Given the description of an element on the screen output the (x, y) to click on. 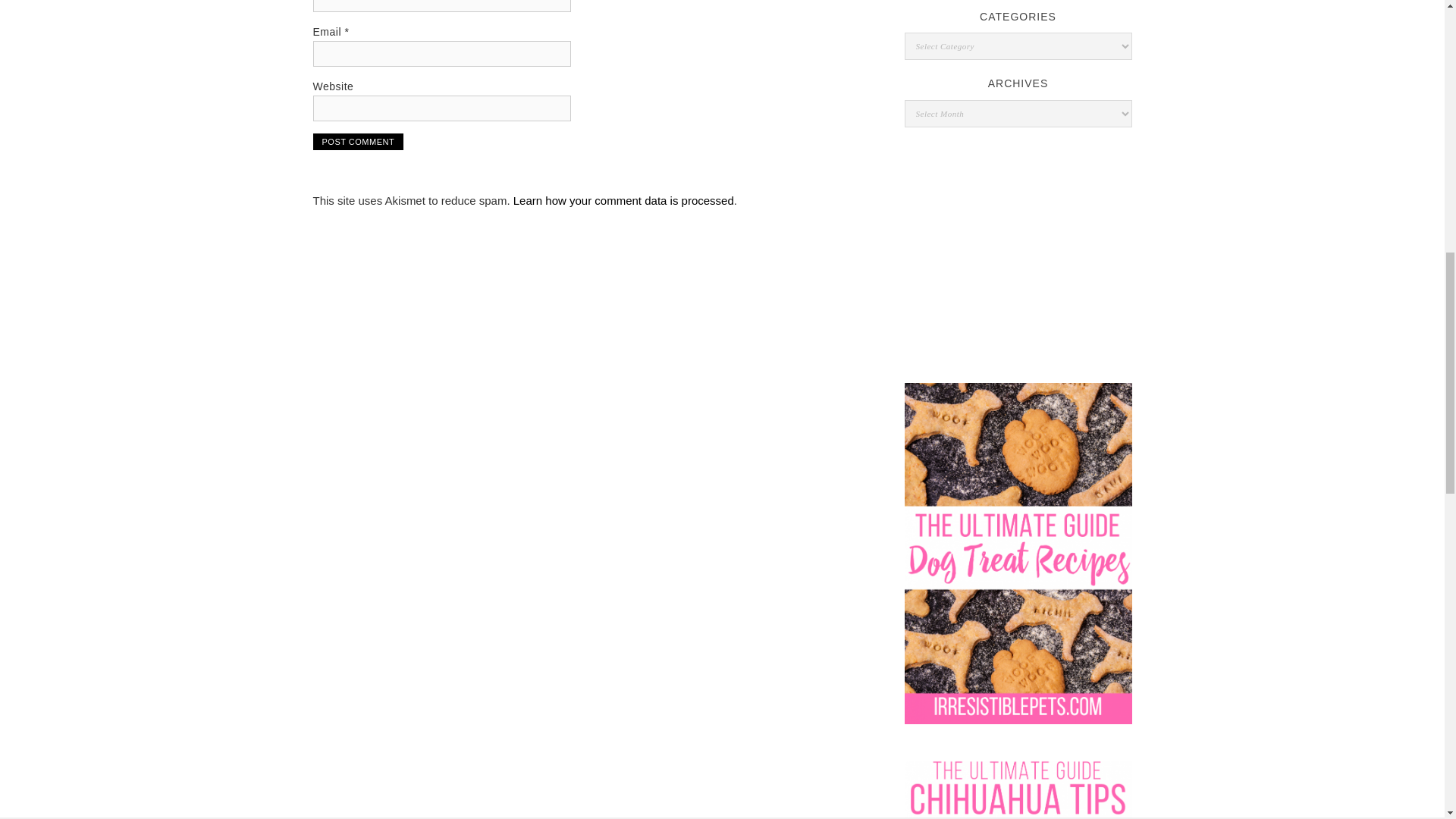
Learn how your comment data is processed (623, 200)
Post Comment (358, 141)
Post Comment (358, 141)
